Given the description of an element on the screen output the (x, y) to click on. 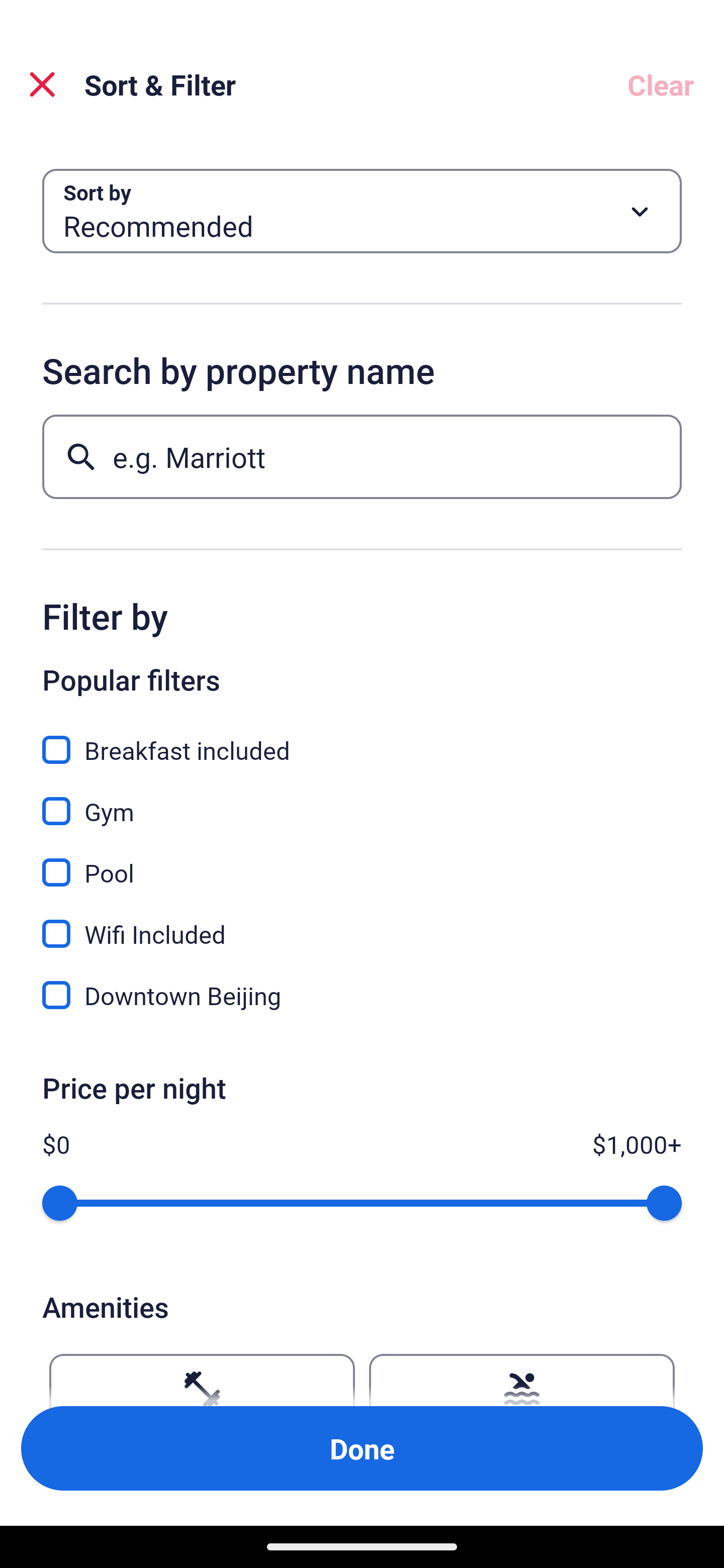
Close Sort and Filter (42, 84)
Clear (660, 84)
Sort by Button Recommended (361, 211)
e.g. Marriott Button (361, 455)
Breakfast included, Breakfast included (361, 738)
Gym, Gym (361, 800)
Pool, Pool (361, 861)
Wifi Included, Wifi Included (361, 922)
Downtown Beijing, Downtown Beijing (361, 995)
Apply and close Sort and Filter Done (361, 1448)
